Given the description of an element on the screen output the (x, y) to click on. 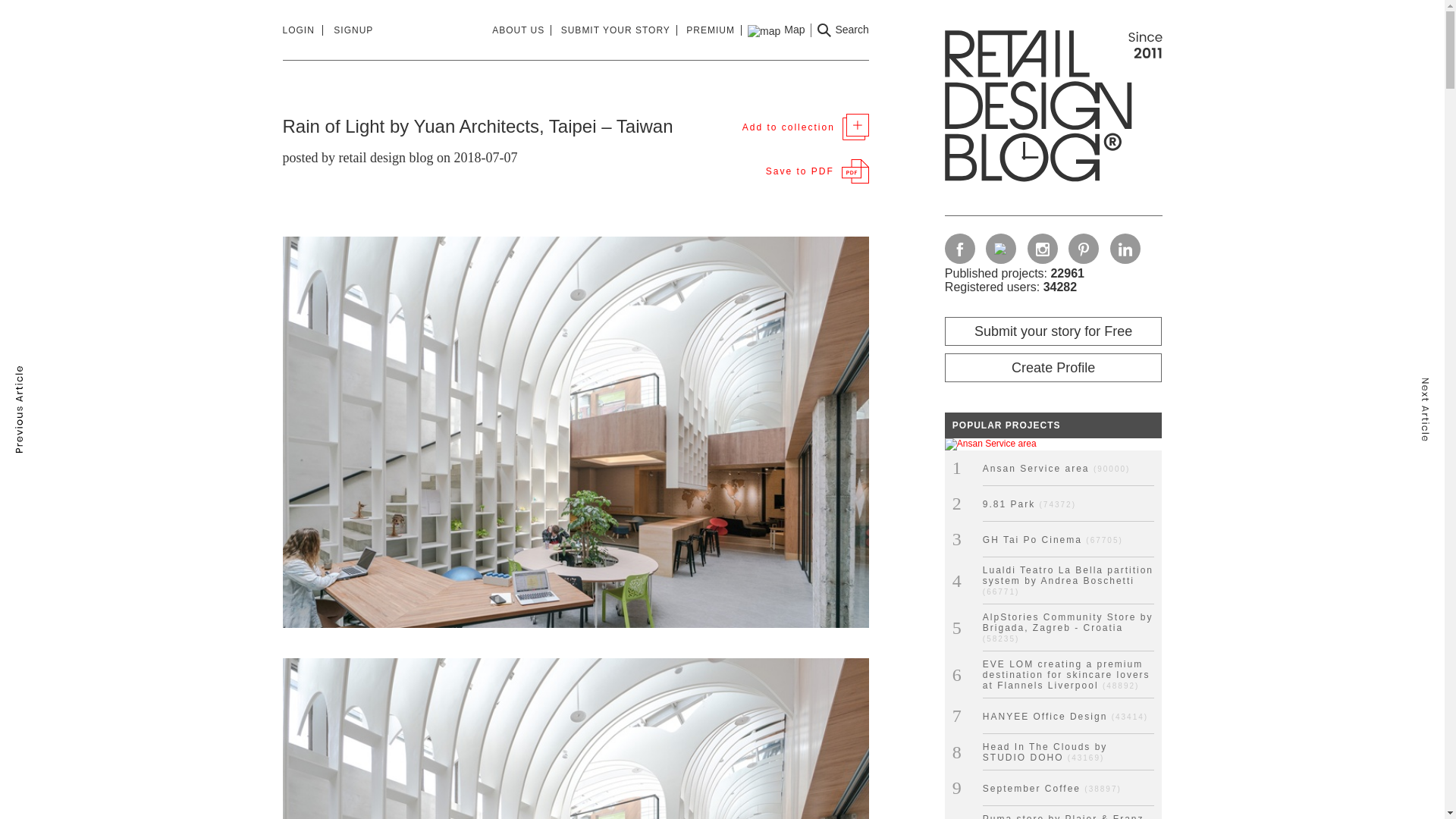
ABOUT US (521, 30)
LOGIN (301, 30)
SUBMIT YOUR STORY (618, 30)
SIGNUP (352, 30)
Save this article to PDF (817, 170)
Map (776, 29)
Search (841, 29)
PREMIUM (713, 30)
